Given the description of an element on the screen output the (x, y) to click on. 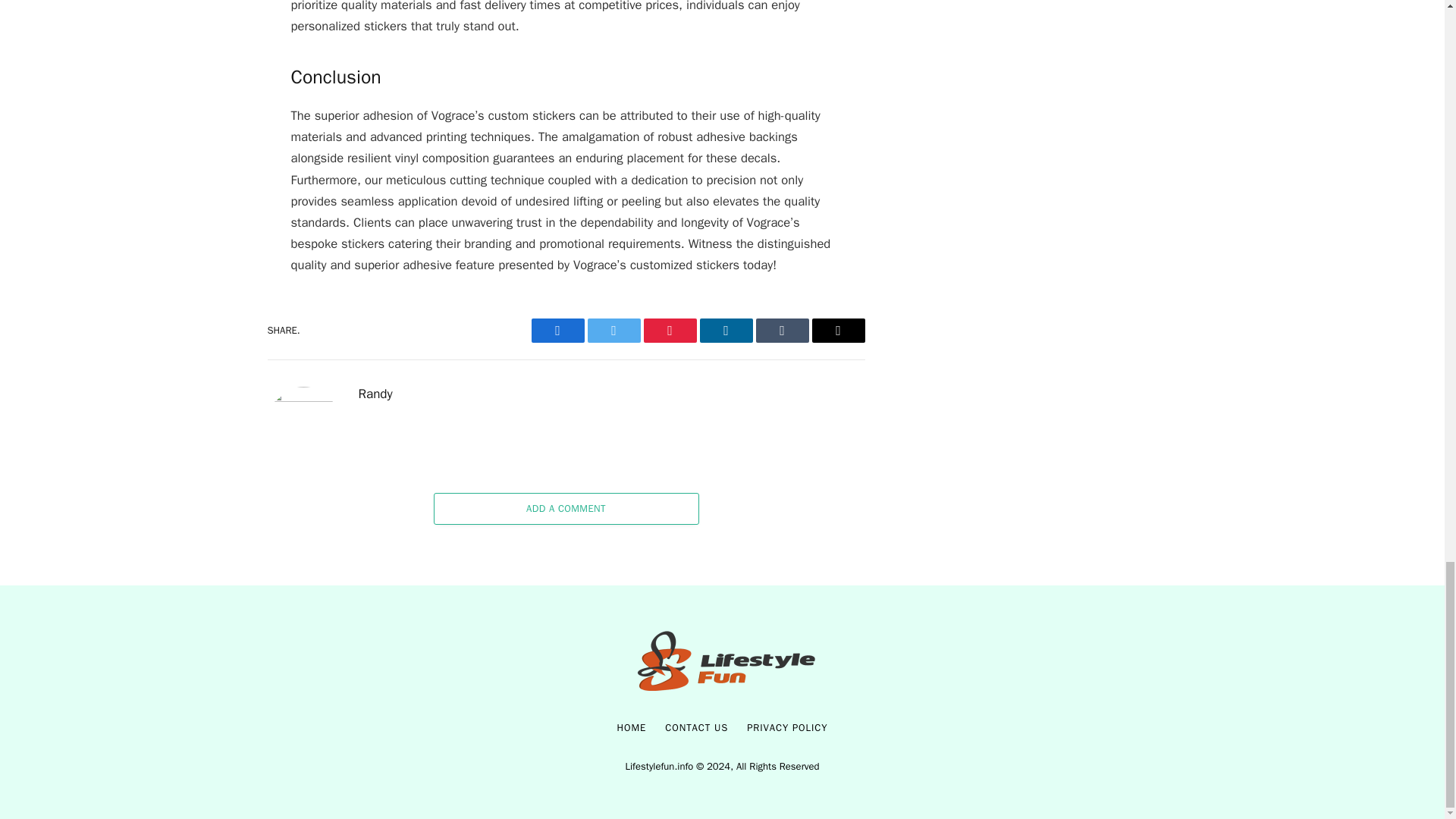
Facebook (557, 330)
Twitter (613, 330)
